Given the description of an element on the screen output the (x, y) to click on. 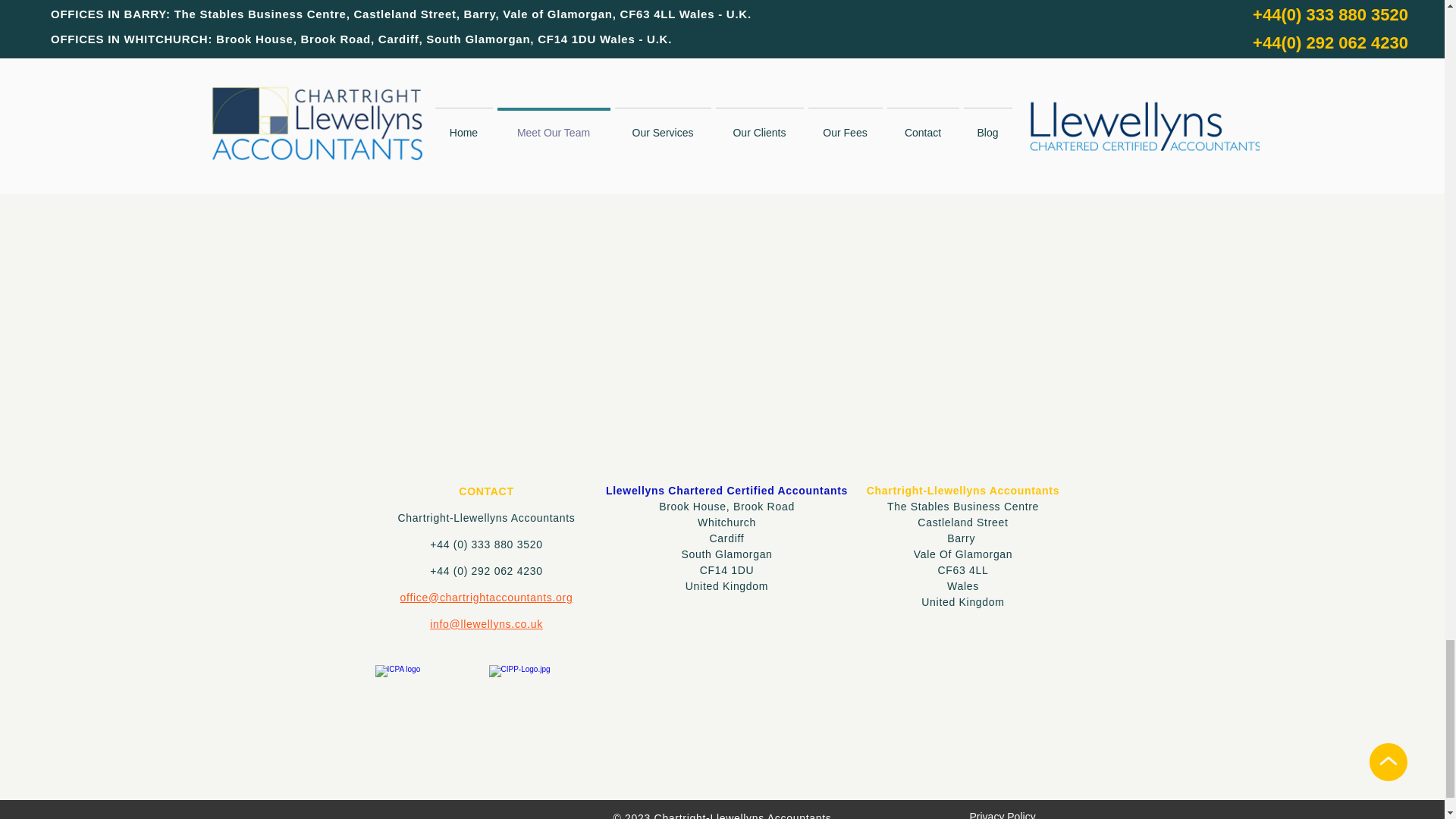
Privacy Policy (1002, 814)
Submit (1117, 13)
